Given the description of an element on the screen output the (x, y) to click on. 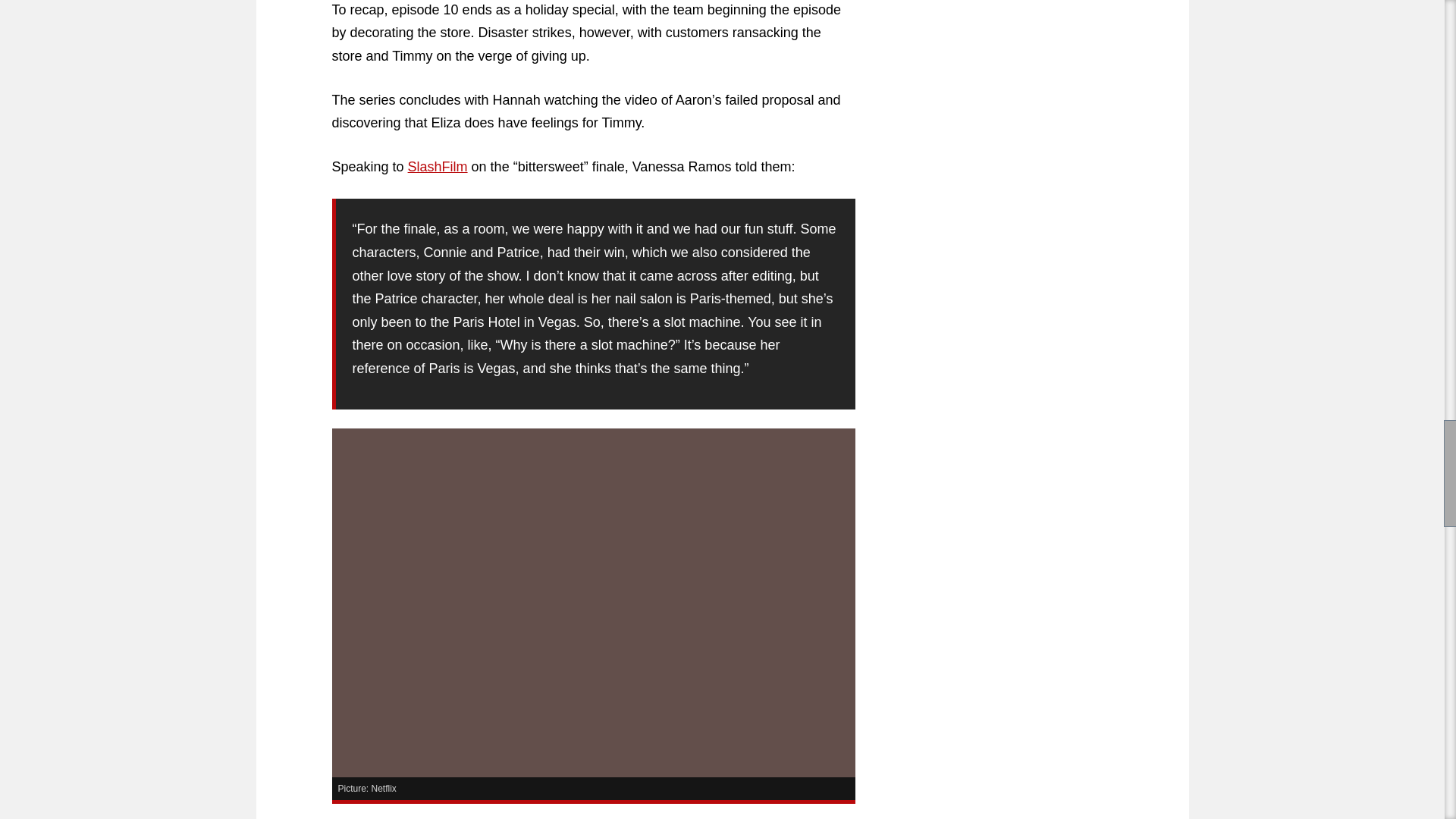
SlashFilm (437, 166)
